Given the description of an element on the screen output the (x, y) to click on. 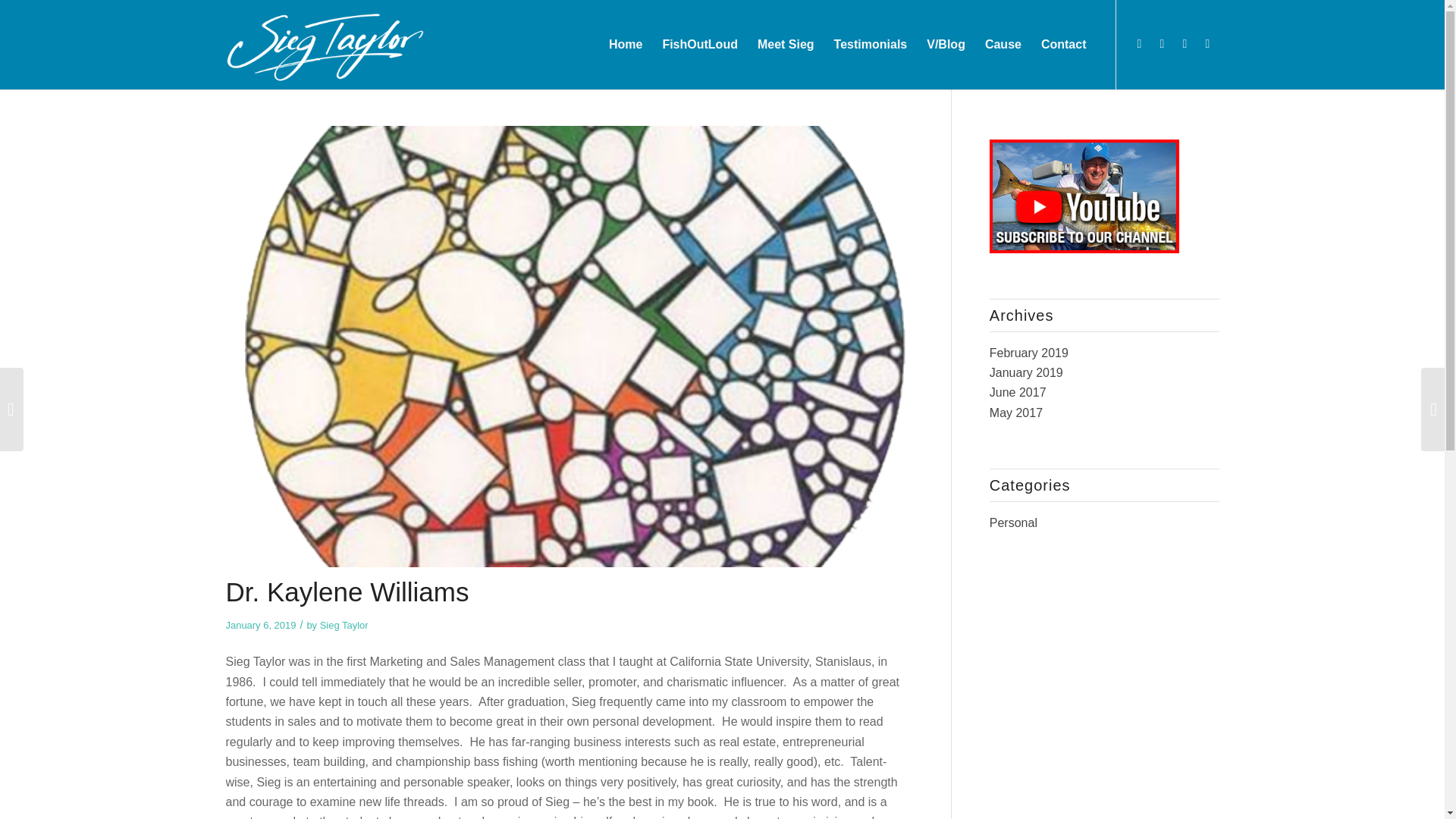
January 2019 (1026, 372)
Dr. Kaylene Williams (346, 591)
June 2017 (1018, 391)
FishOutLoud (700, 44)
Sieg Taylor (344, 624)
May 2017 (1016, 412)
February 2019 (1029, 352)
Personal (1013, 522)
Testimonials (870, 44)
